Given the description of an element on the screen output the (x, y) to click on. 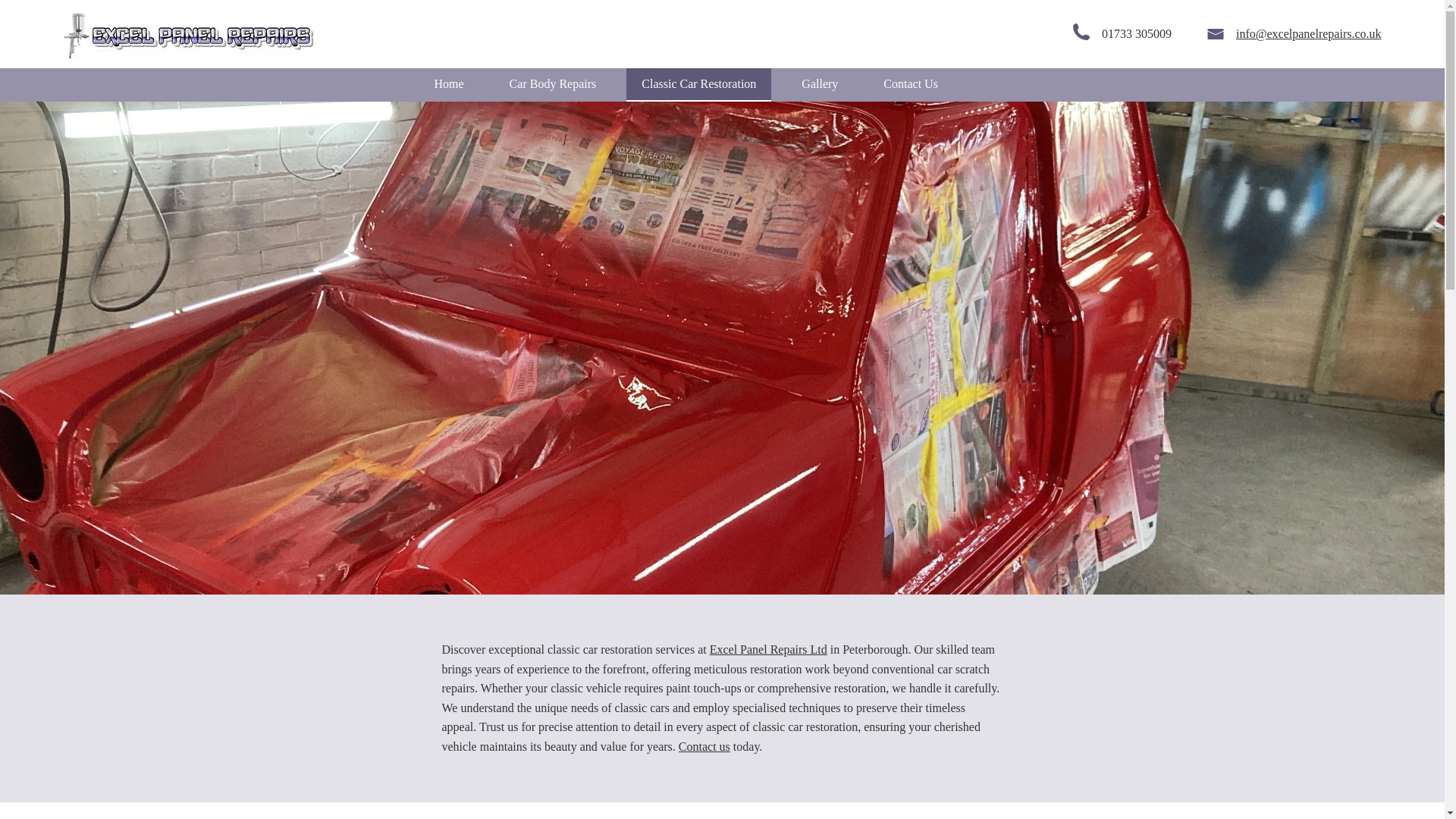
Gallery (819, 84)
Classic Car Restoration (698, 84)
Contact Us (910, 84)
Contact us (704, 746)
Home (449, 84)
Excel Panel Repairs Ltd (768, 649)
Car Body Repairs (553, 84)
